Given the description of an element on the screen output the (x, y) to click on. 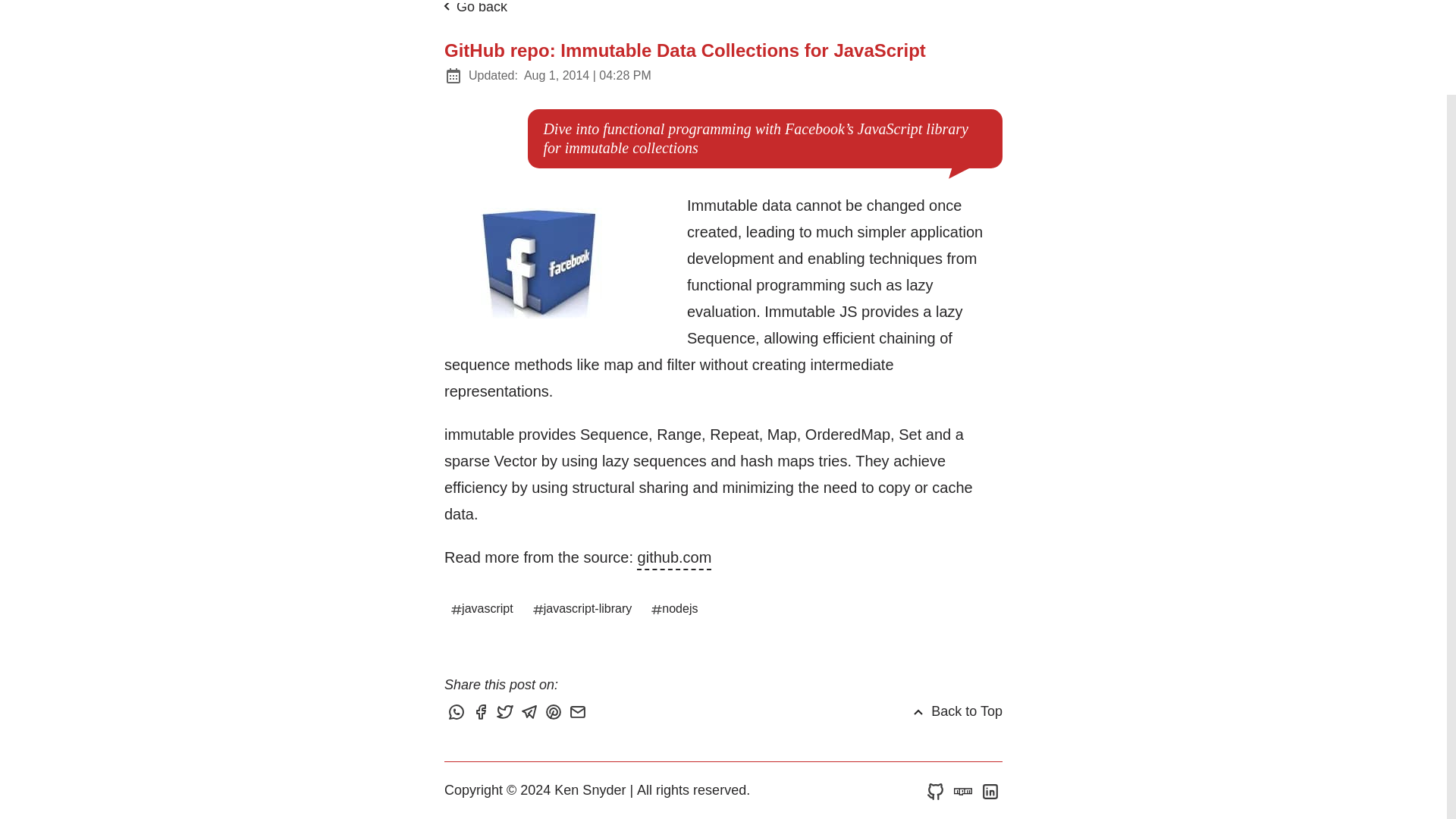
Share this post via WhatsApp (457, 713)
Ken Snyder on npm (962, 790)
Ken Snyder on LinkedIn (990, 790)
Ken Snyder on LinkedIn (990, 790)
javascript (482, 608)
Tweet this post (506, 713)
Ken Snyder on GitHub (935, 790)
Back to Top (955, 711)
Share this post on Pinterest (555, 713)
Share this post on Facebook (482, 713)
Share this post via Telegram (530, 713)
Ken Snyder on npm (962, 790)
Ken Snyder on GitHub (935, 790)
github.com (674, 556)
Share this post via email (579, 713)
